Given the description of an element on the screen output the (x, y) to click on. 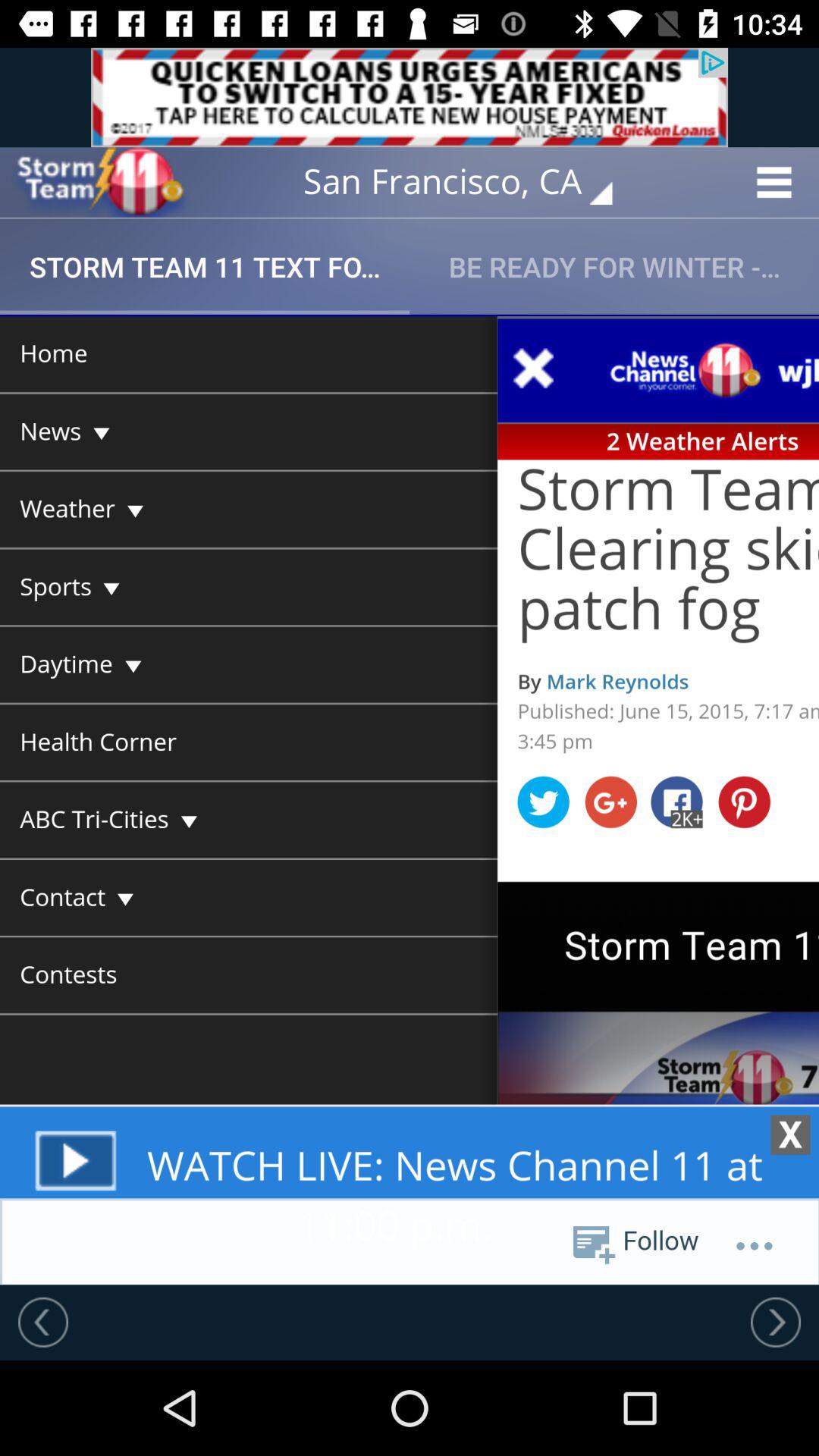
go back (43, 1322)
